Given the description of an element on the screen output the (x, y) to click on. 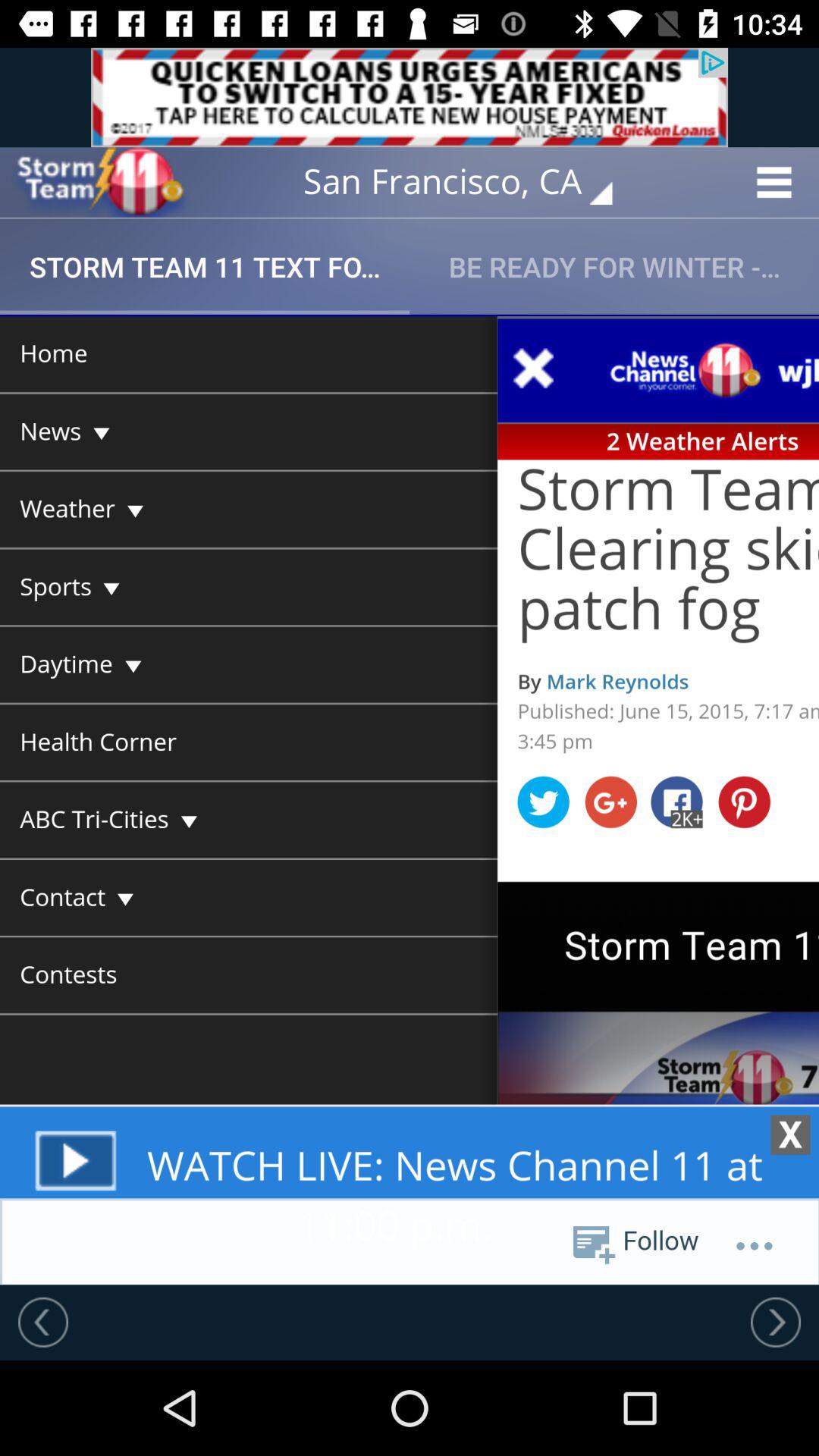
go back (43, 1322)
